Given the description of an element on the screen output the (x, y) to click on. 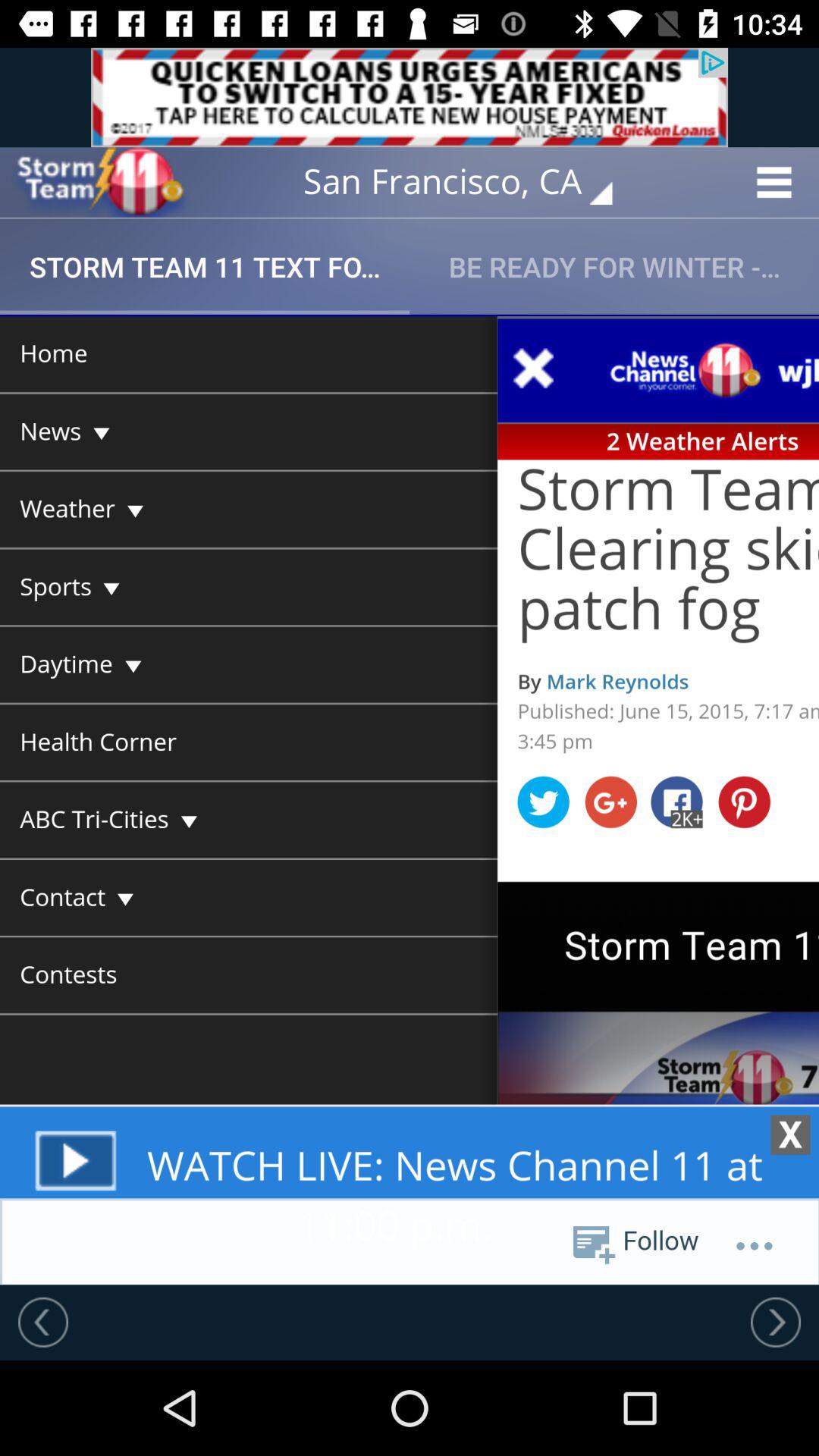
go back (43, 1322)
